Given the description of an element on the screen output the (x, y) to click on. 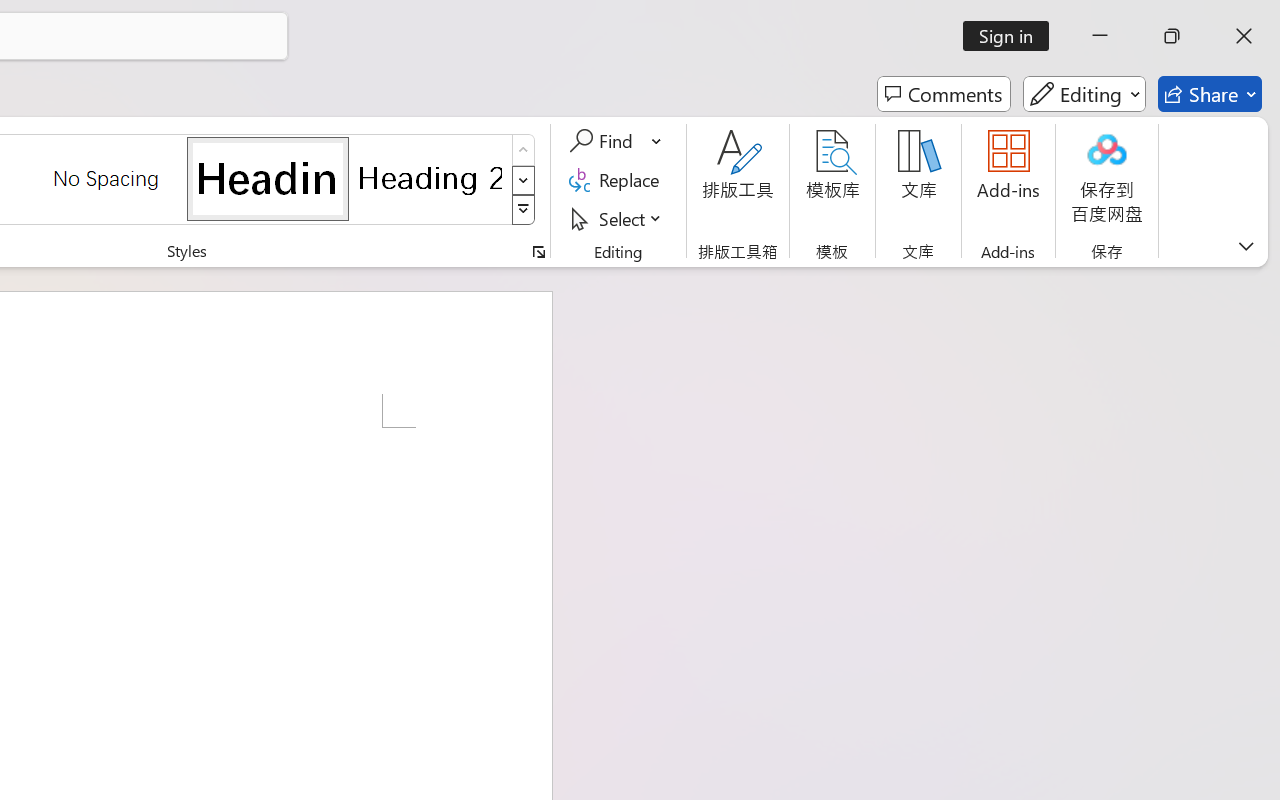
Sign in (1012, 35)
